Given the description of an element on the screen output the (x, y) to click on. 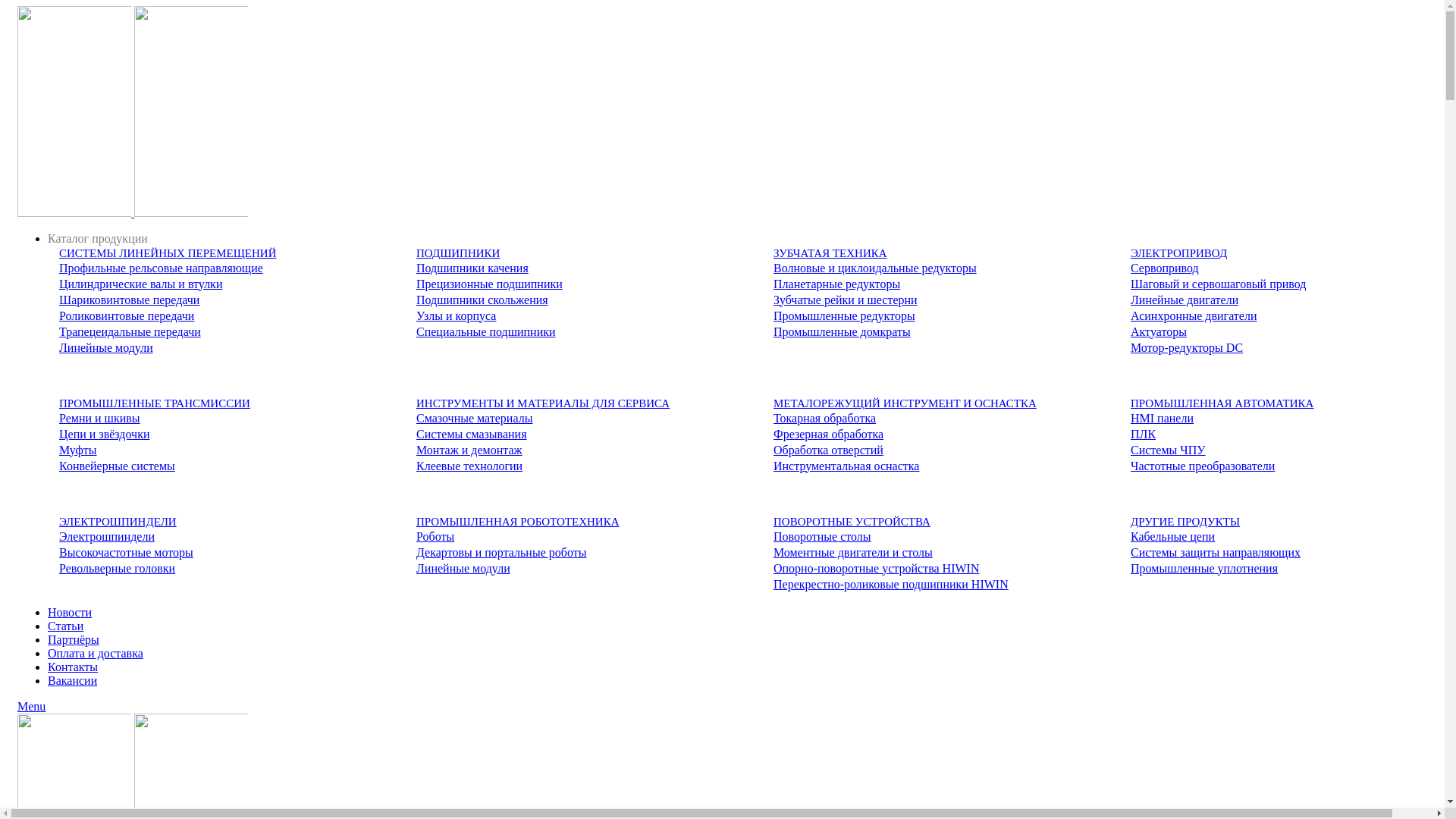
Menu Element type: text (31, 705)
